Given the description of an element on the screen output the (x, y) to click on. 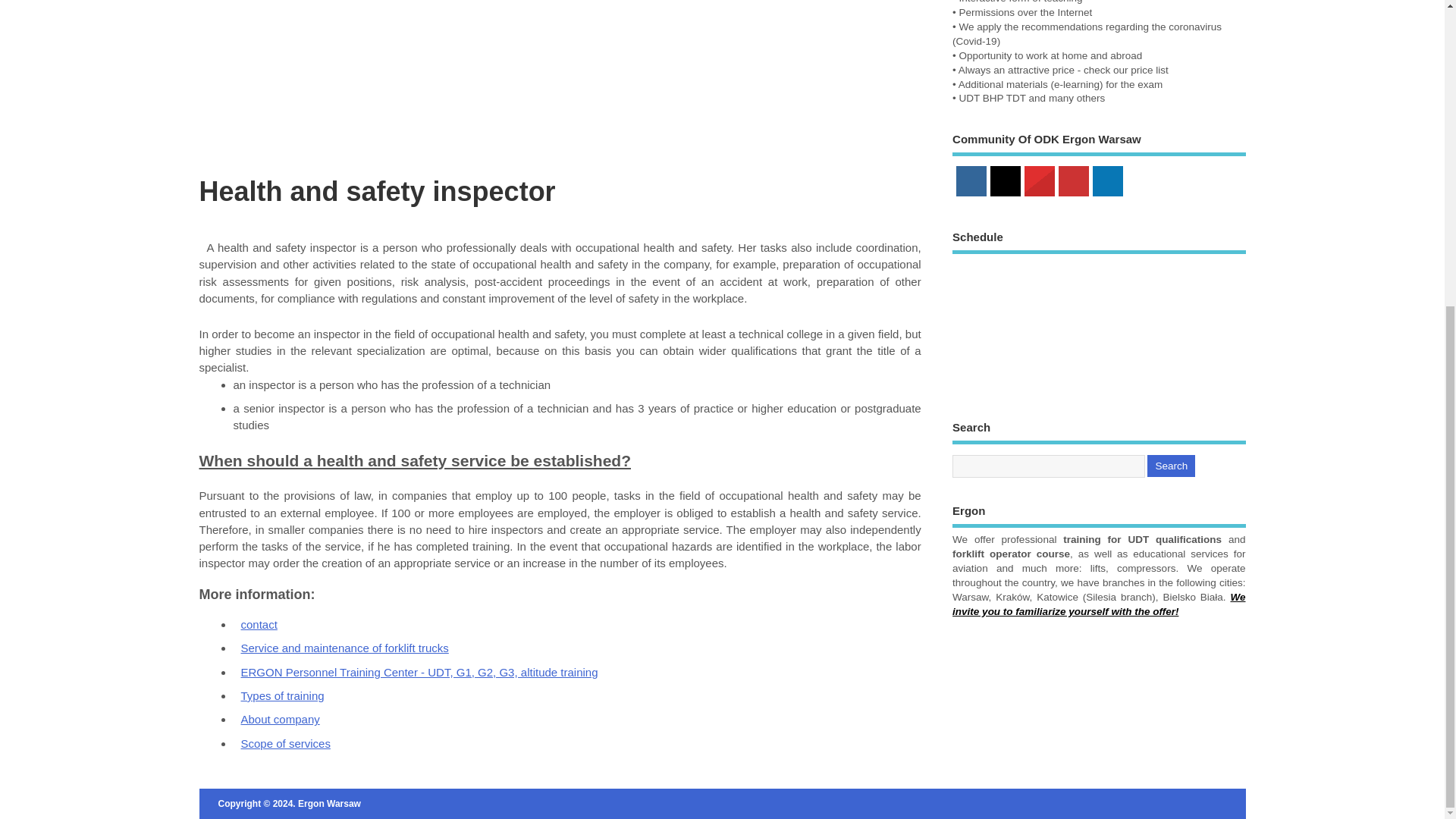
contact (258, 624)
About company (279, 718)
Service and maintenance of forklift trucks (344, 647)
Scope of services (284, 743)
Facebook (970, 180)
Twitter (1005, 180)
Types of training (281, 695)
